Given the description of an element on the screen output the (x, y) to click on. 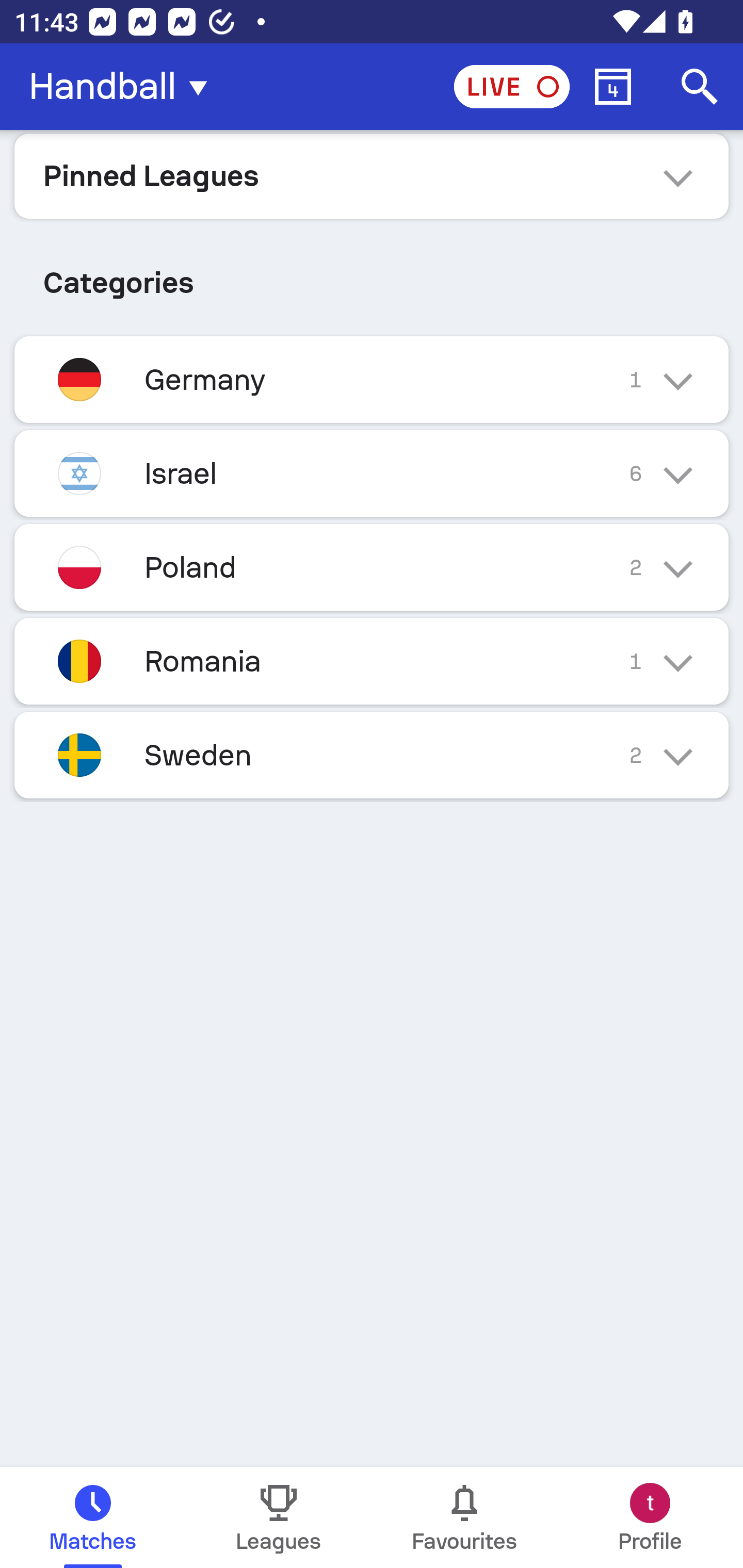
Handball (124, 86)
Calendar (612, 86)
Search (699, 86)
Pinned Leagues (371, 175)
Categories (371, 275)
Germany 1 (371, 379)
Israel 6 (371, 473)
Poland 2 (371, 566)
Romania 1 (371, 660)
Sweden 2 (371, 754)
Leagues (278, 1517)
Favourites (464, 1517)
Profile (650, 1517)
